Given the description of an element on the screen output the (x, y) to click on. 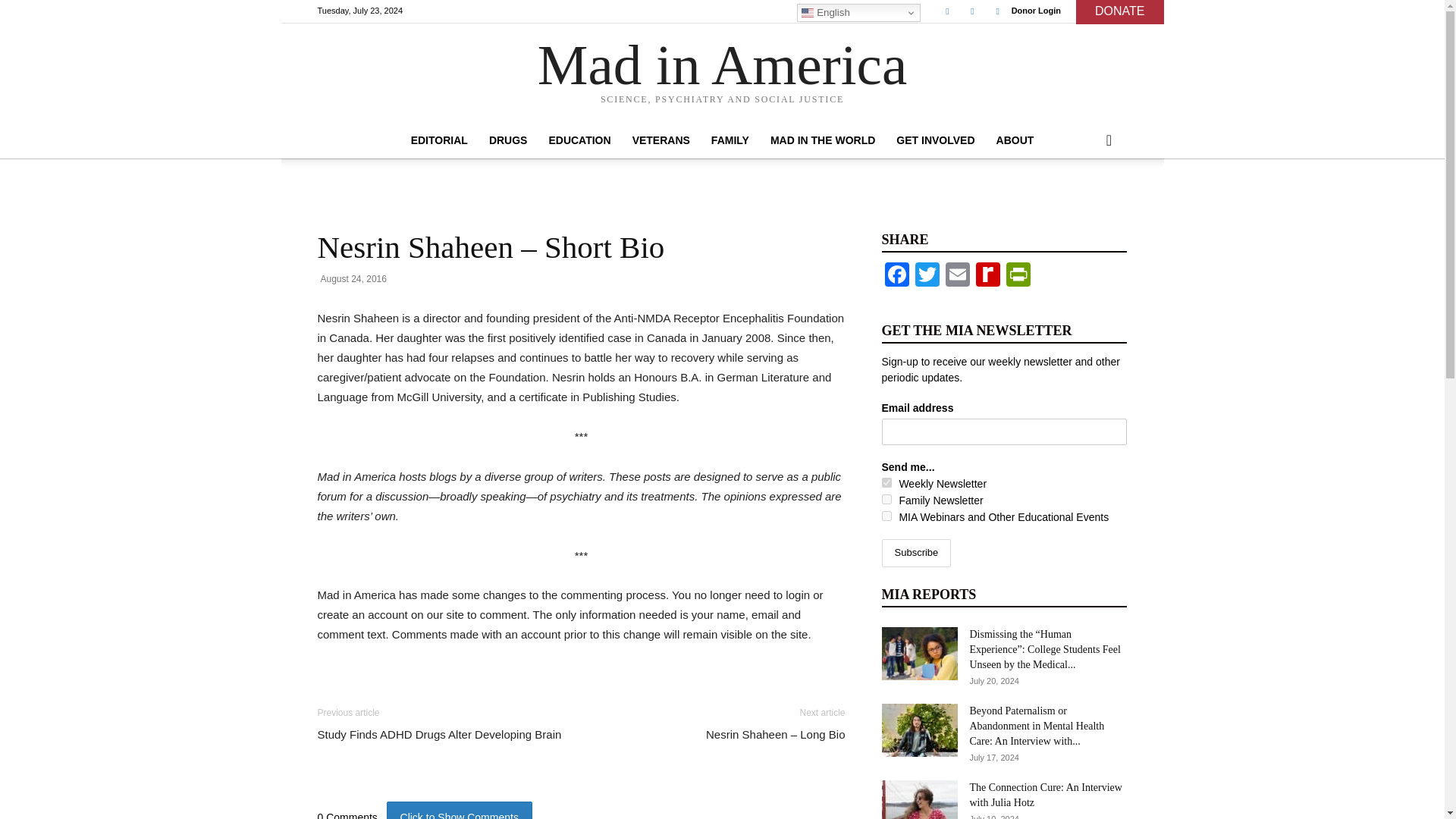
Facebook (895, 276)
Twitter (972, 10)
a8b577bac2 (885, 482)
59a3706891 (885, 515)
64ec82b4cd (885, 499)
Youtube (998, 10)
Subscribe (915, 552)
Facebook (947, 10)
